Given the description of an element on the screen output the (x, y) to click on. 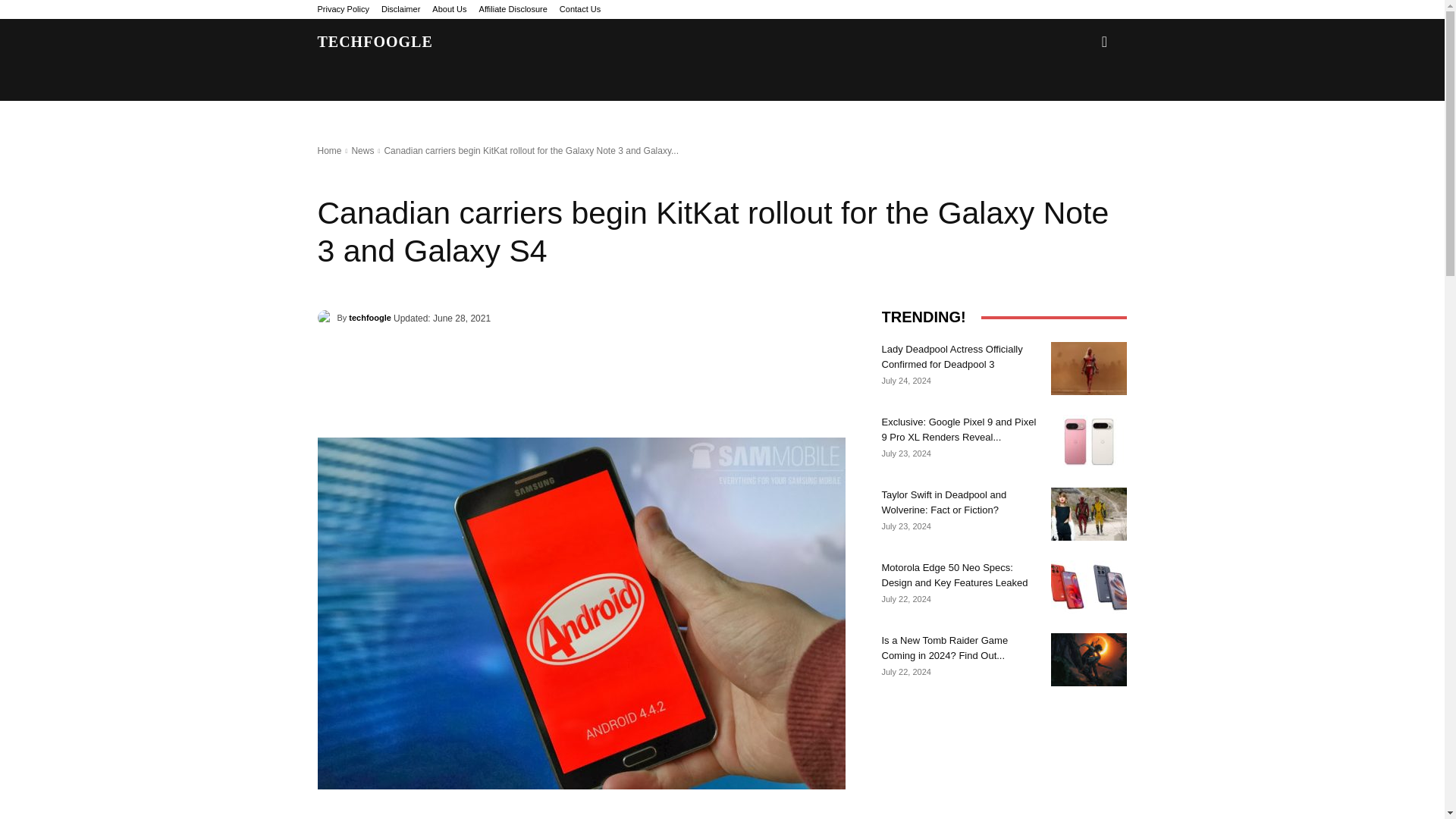
Privacy Policy (342, 8)
TECHFOOGLE (374, 41)
About Us (448, 8)
Disclaimer (400, 8)
Affiliate Disclosure (513, 8)
Contact Us (579, 8)
